Given the description of an element on the screen output the (x, y) to click on. 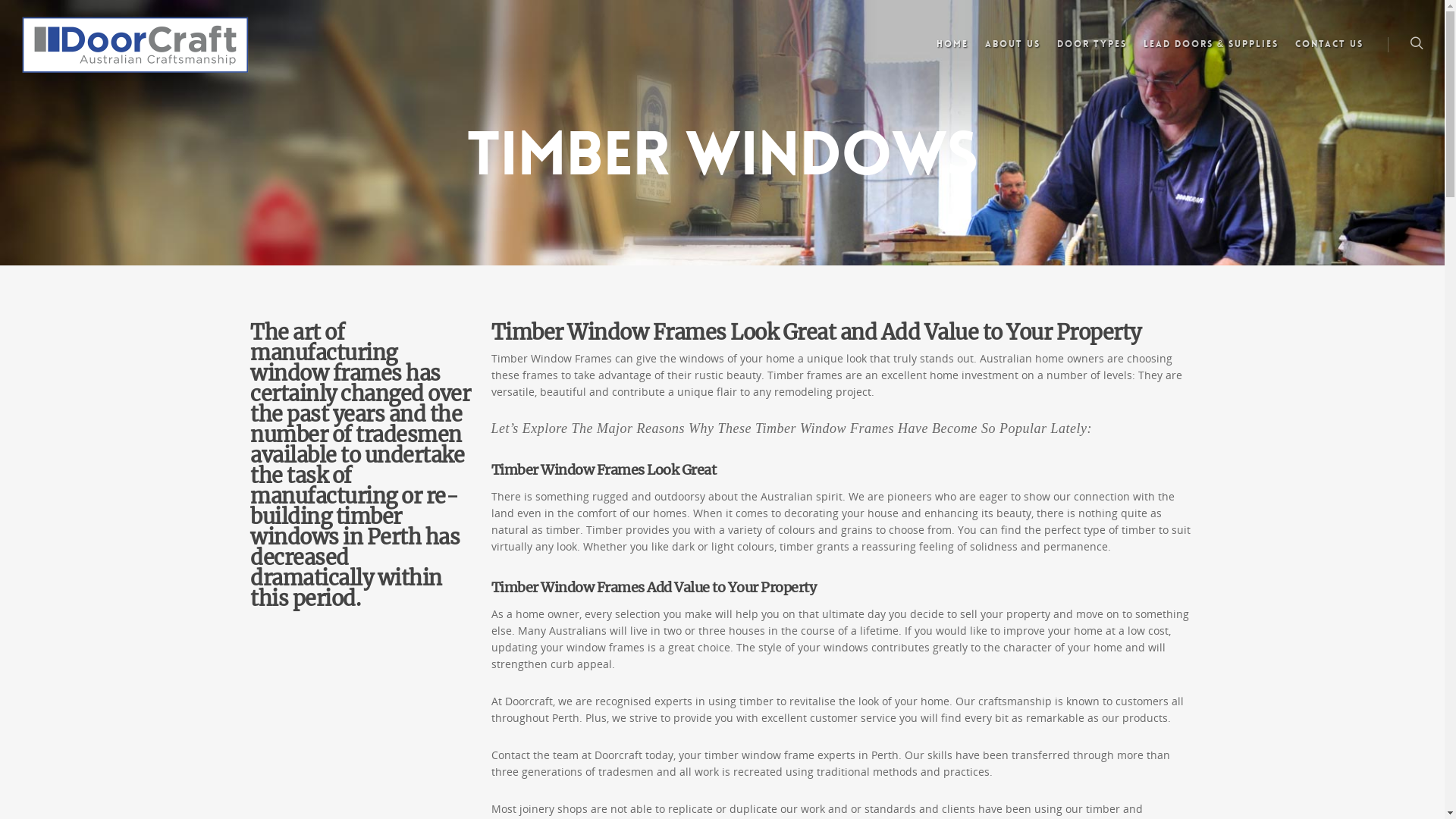
HOME Element type: text (951, 51)
CONTACT US Element type: text (1329, 51)
LEAD DOORS & SUPPLIES Element type: text (1210, 51)
ABOUT US Element type: text (1012, 51)
DOOR TYPES Element type: text (1091, 51)
